Given the description of an element on the screen output the (x, y) to click on. 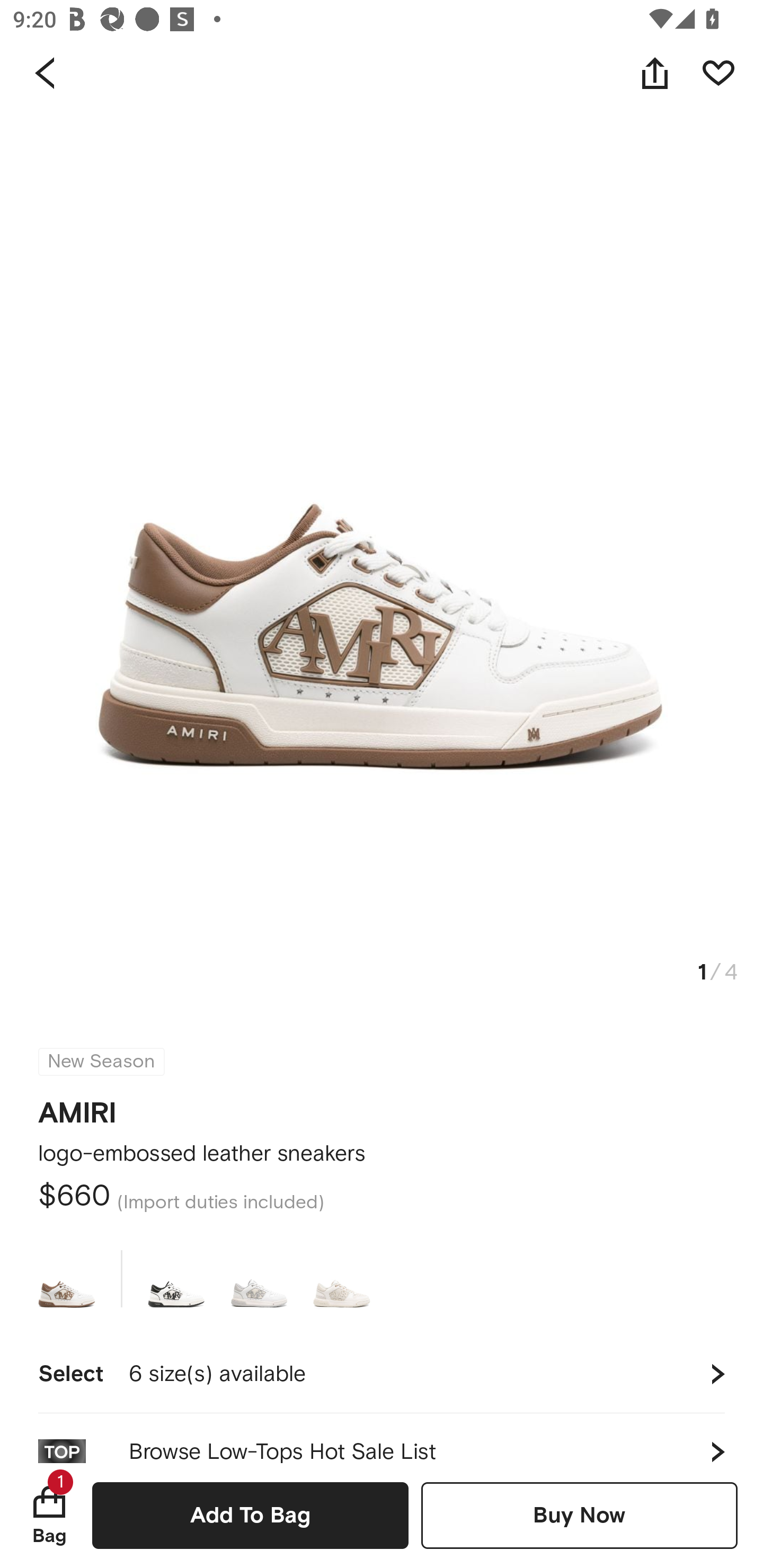
AMIRI (77, 1107)
Select 6 size(s) available (381, 1373)
Browse Low-Tops Hot Sale List (381, 1438)
Bag 1 (49, 1515)
Add To Bag (250, 1515)
Buy Now (579, 1515)
